Given the description of an element on the screen output the (x, y) to click on. 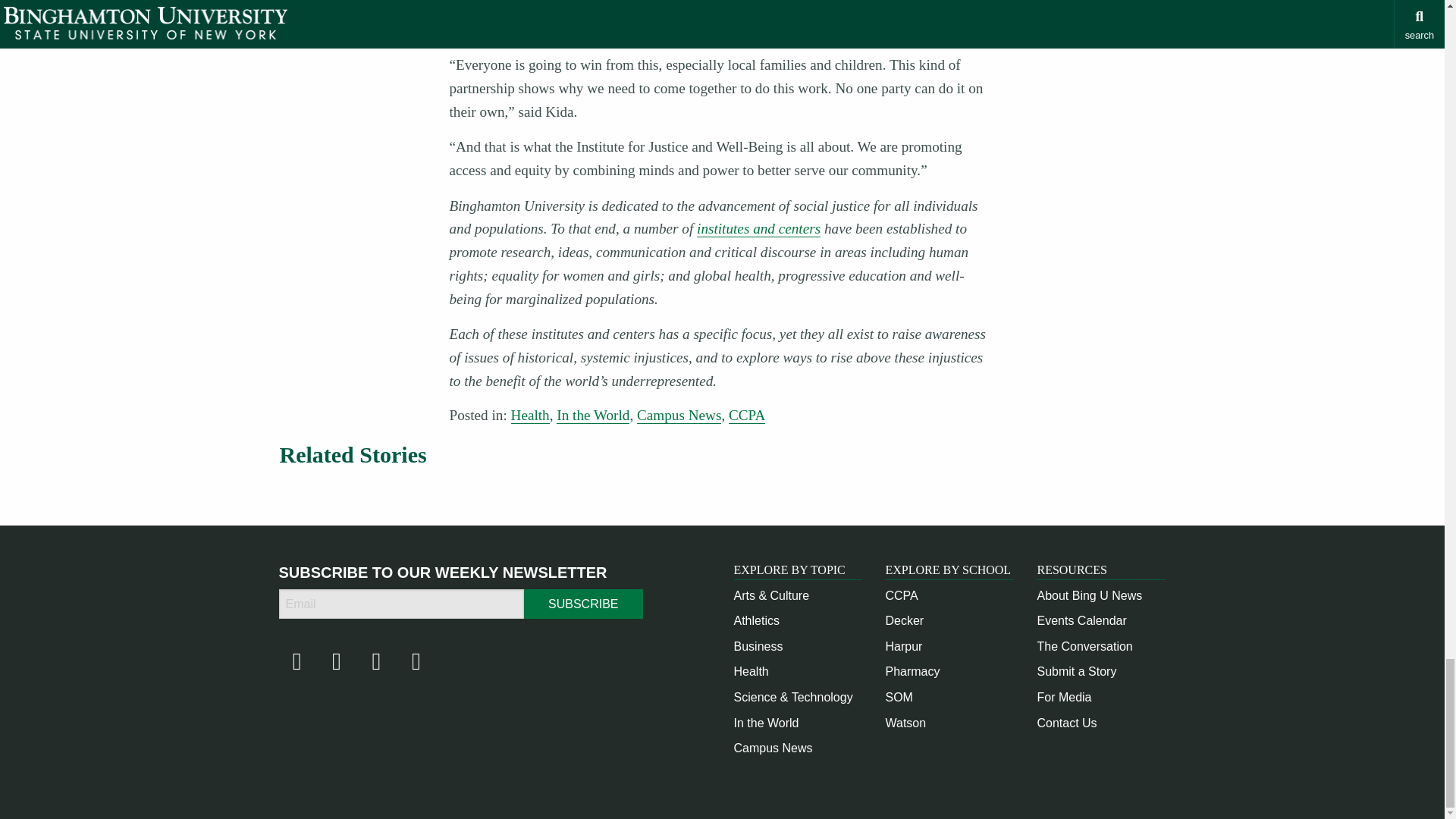
Subscribe (583, 603)
Facebook (296, 665)
Youtube (375, 665)
In the World (592, 415)
Snapchat (415, 665)
In the World (766, 722)
Health (530, 415)
Health (750, 671)
Business (758, 645)
Campus News (678, 415)
Athletics (755, 620)
institutes and centers (759, 228)
Instagram (335, 665)
CCPA (901, 594)
Campus News (772, 748)
